Given the description of an element on the screen output the (x, y) to click on. 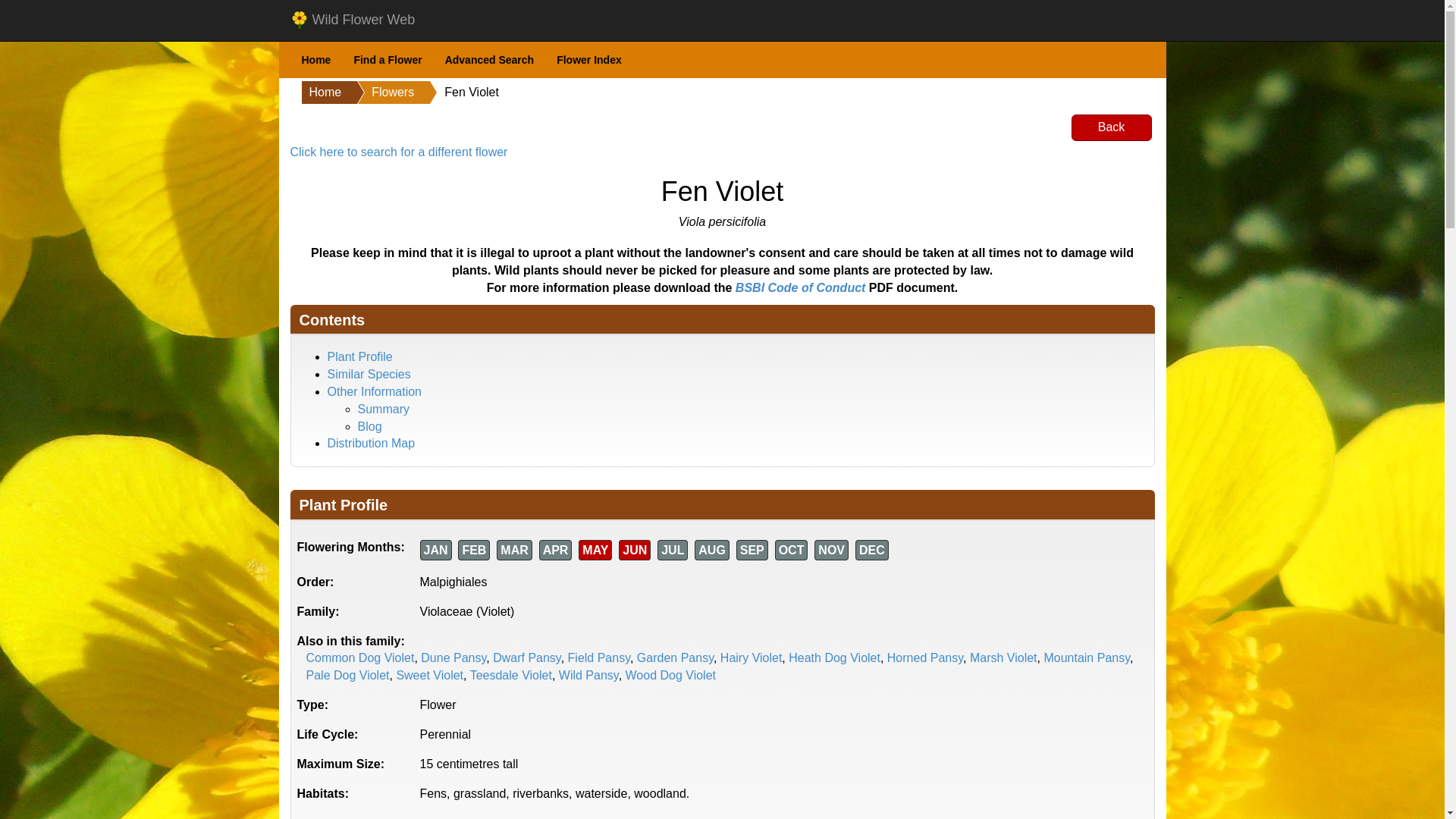
Hairy Violet (751, 657)
Common Dog Violet (359, 657)
Mountain Pansy (1086, 657)
Distribution Map (370, 442)
Heath Dog Violet (834, 657)
Wood Dog Violet (671, 675)
Dune Pansy (453, 657)
Other Information (374, 391)
Flower Index (588, 60)
Blog (369, 426)
